Given the description of an element on the screen output the (x, y) to click on. 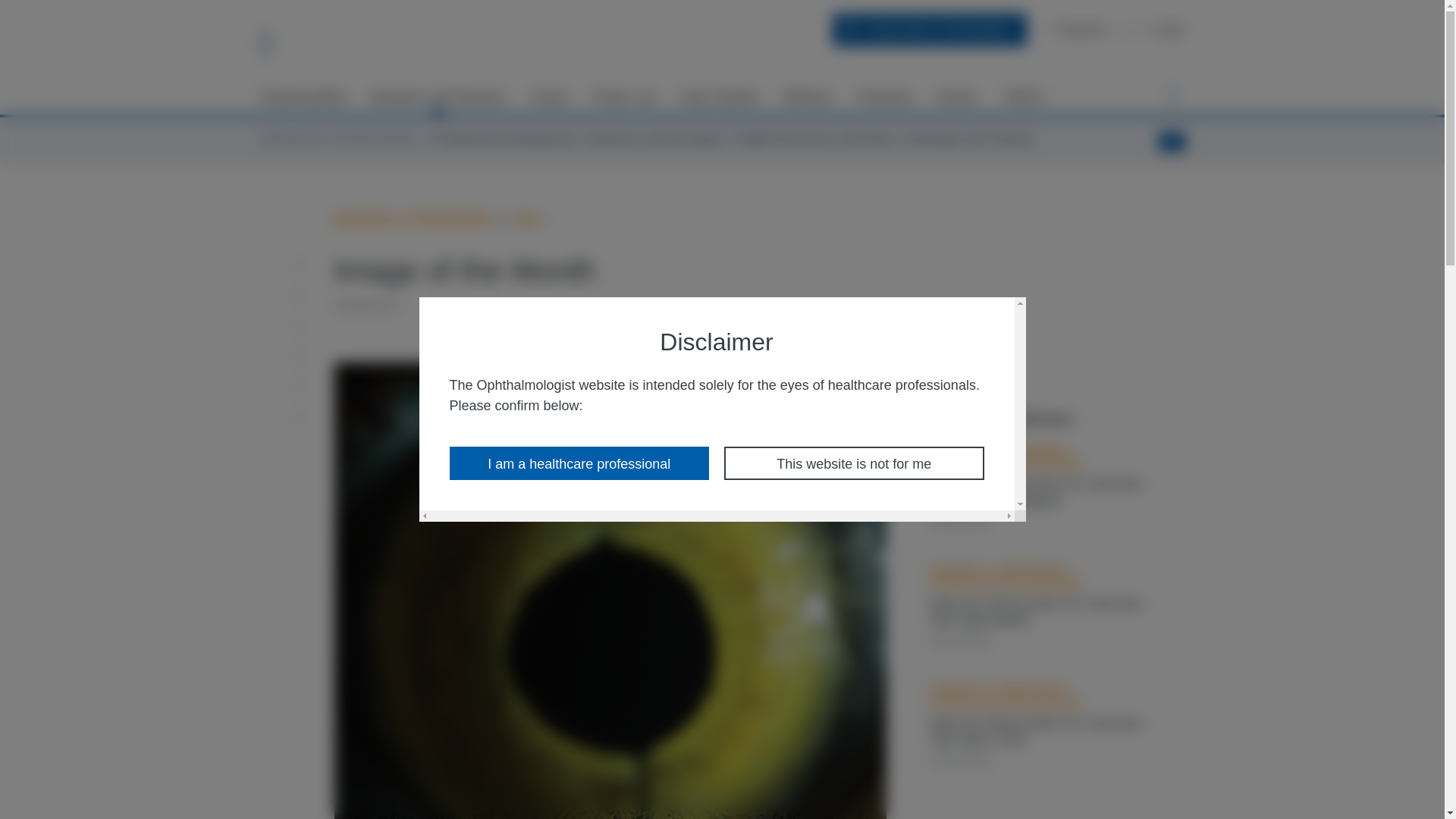
Share this article on LinkedIn (302, 325)
Subspecialties (303, 96)
Education and Training (970, 138)
Power List (624, 96)
Events (957, 96)
Share this article on Facebook (302, 295)
Print this article (302, 416)
Share this article on X (302, 355)
Channels (885, 96)
Share this article by email (302, 264)
Login (1161, 29)
Webinar (807, 96)
Health Economics and Policy (814, 138)
MORE (1026, 97)
Issues (549, 96)
